Given the description of an element on the screen output the (x, y) to click on. 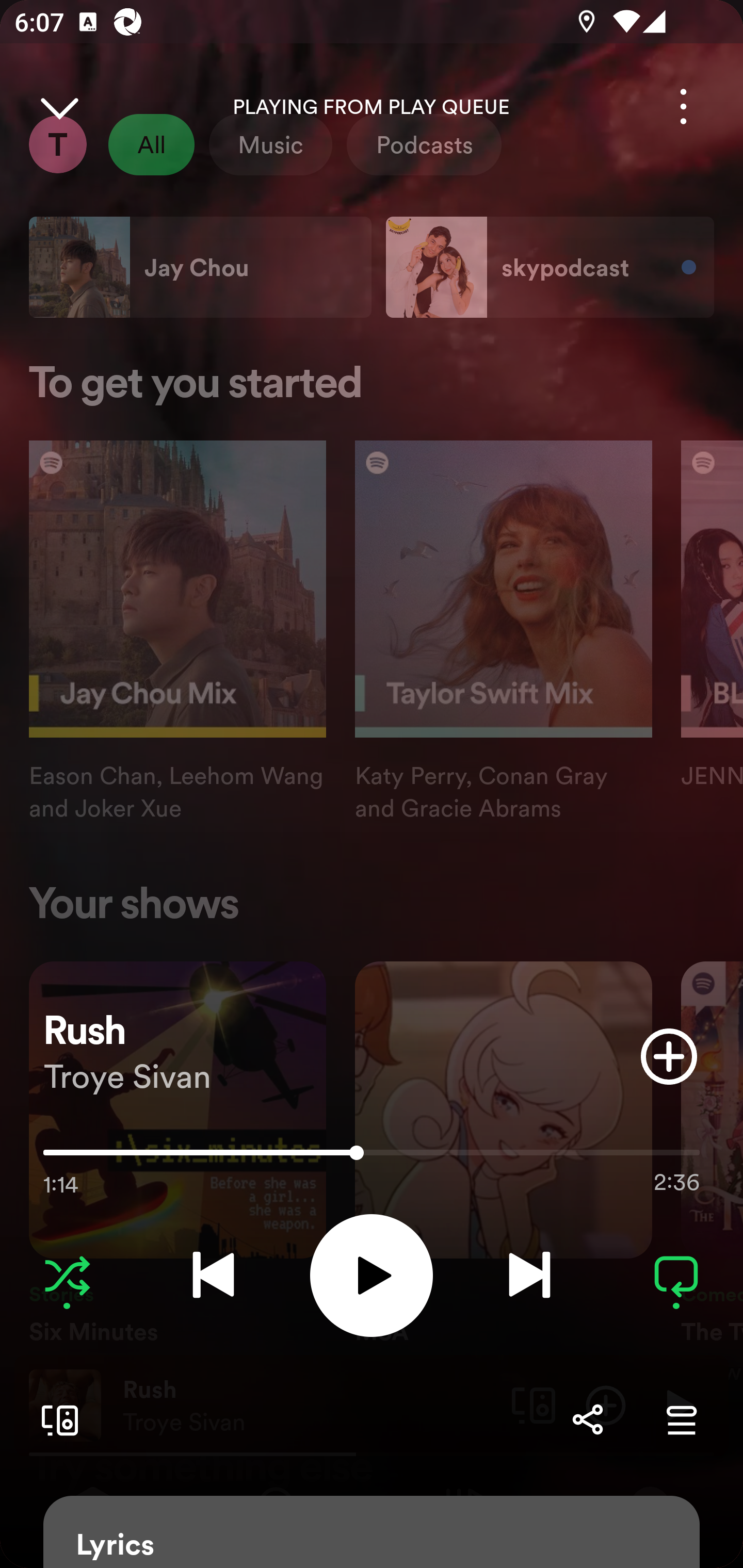
Close (59, 106)
More options for song Rush (683, 106)
PLAYING FROM PLAY QUEUE (371, 107)
Add item (669, 1056)
1:14 2:36 74441.0 Use volume keys to adjust (371, 1157)
Play (371, 1275)
Previous (212, 1275)
Next (529, 1275)
Stop shuffling tracks (66, 1275)
Repeat (676, 1275)
Share (587, 1419)
Go to Queue (681, 1419)
Connect to a device. Opens the devices menu (55, 1419)
Lyrics (371, 1531)
